Given the description of an element on the screen output the (x, y) to click on. 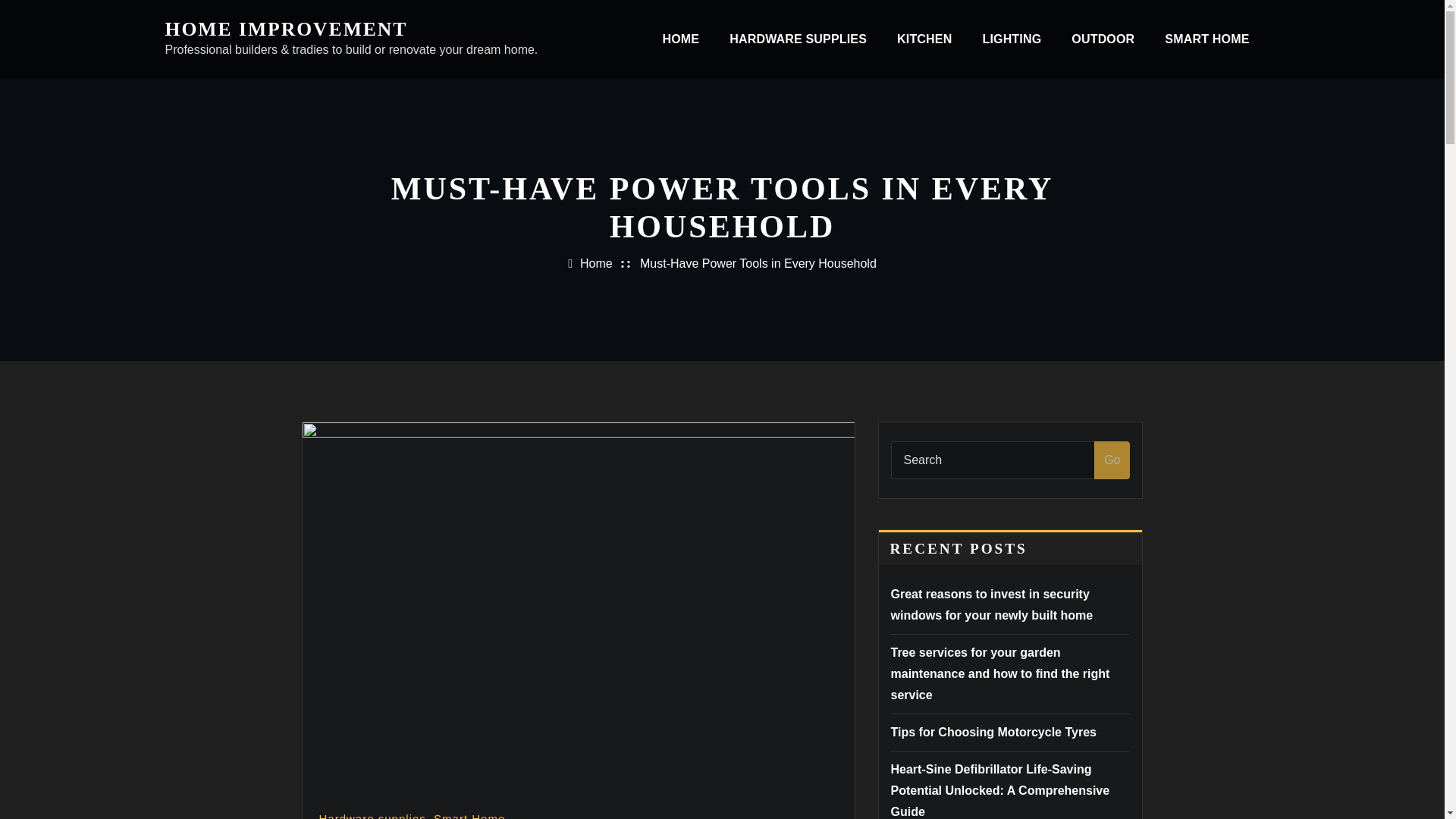
HOME IMPROVEMENT (286, 29)
LIGHTING (1011, 38)
SMART HOME (1206, 38)
KITCHEN (924, 38)
Tips for Choosing Motorcycle Tyres (992, 731)
Go (1111, 460)
HARDWARE SUPPLIES (798, 38)
Home (595, 263)
